Given the description of an element on the screen output the (x, y) to click on. 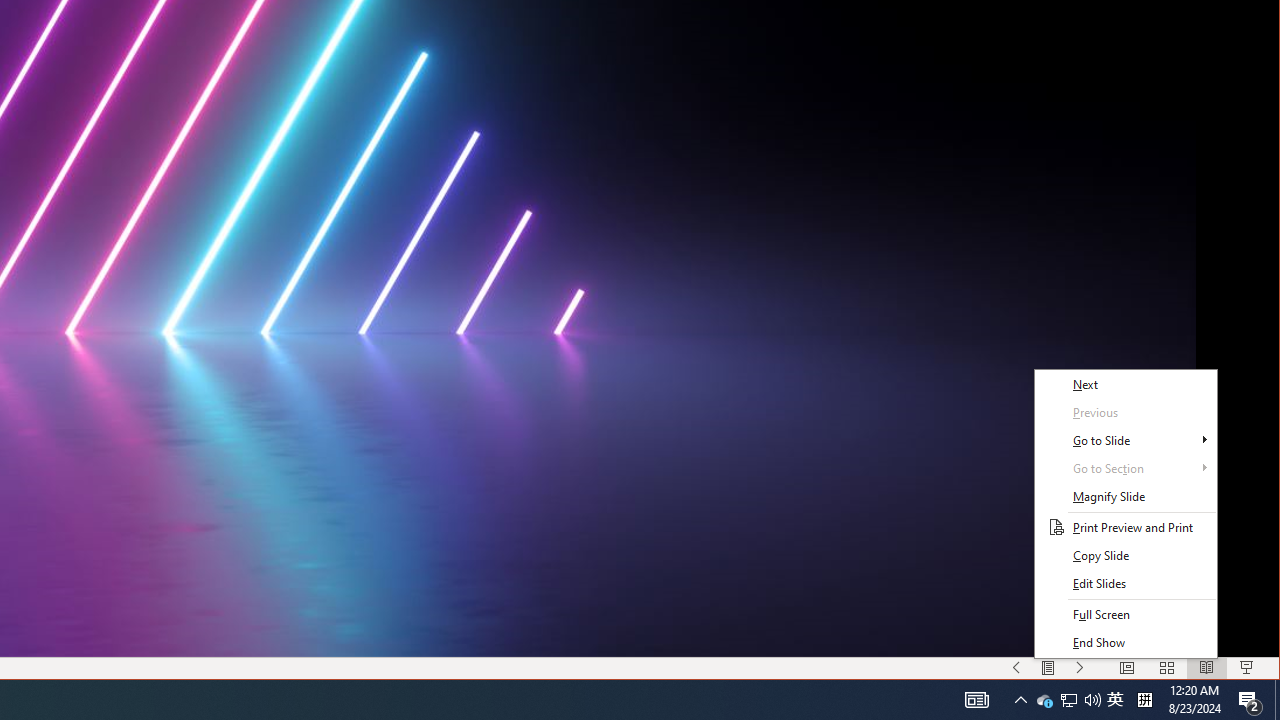
Copy Slide (1125, 556)
Previous (1125, 412)
Next (1125, 384)
Context Menu (1126, 513)
Class: NetUITWMenuContainer (1125, 513)
Slide Show Previous On (1115, 699)
Go to Slide (1016, 668)
User Promoted Notification Area (1125, 440)
Full Screen (1069, 699)
Edit Slides (1068, 699)
Print Preview and Print (1125, 615)
Show desktop (1125, 584)
